Given the description of an element on the screen output the (x, y) to click on. 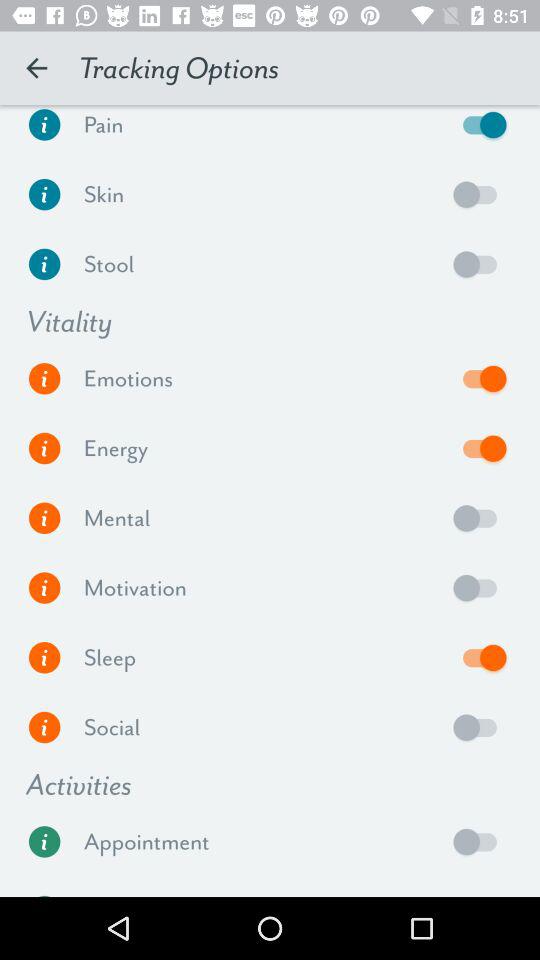
get more information (44, 448)
